Given the description of an element on the screen output the (x, y) to click on. 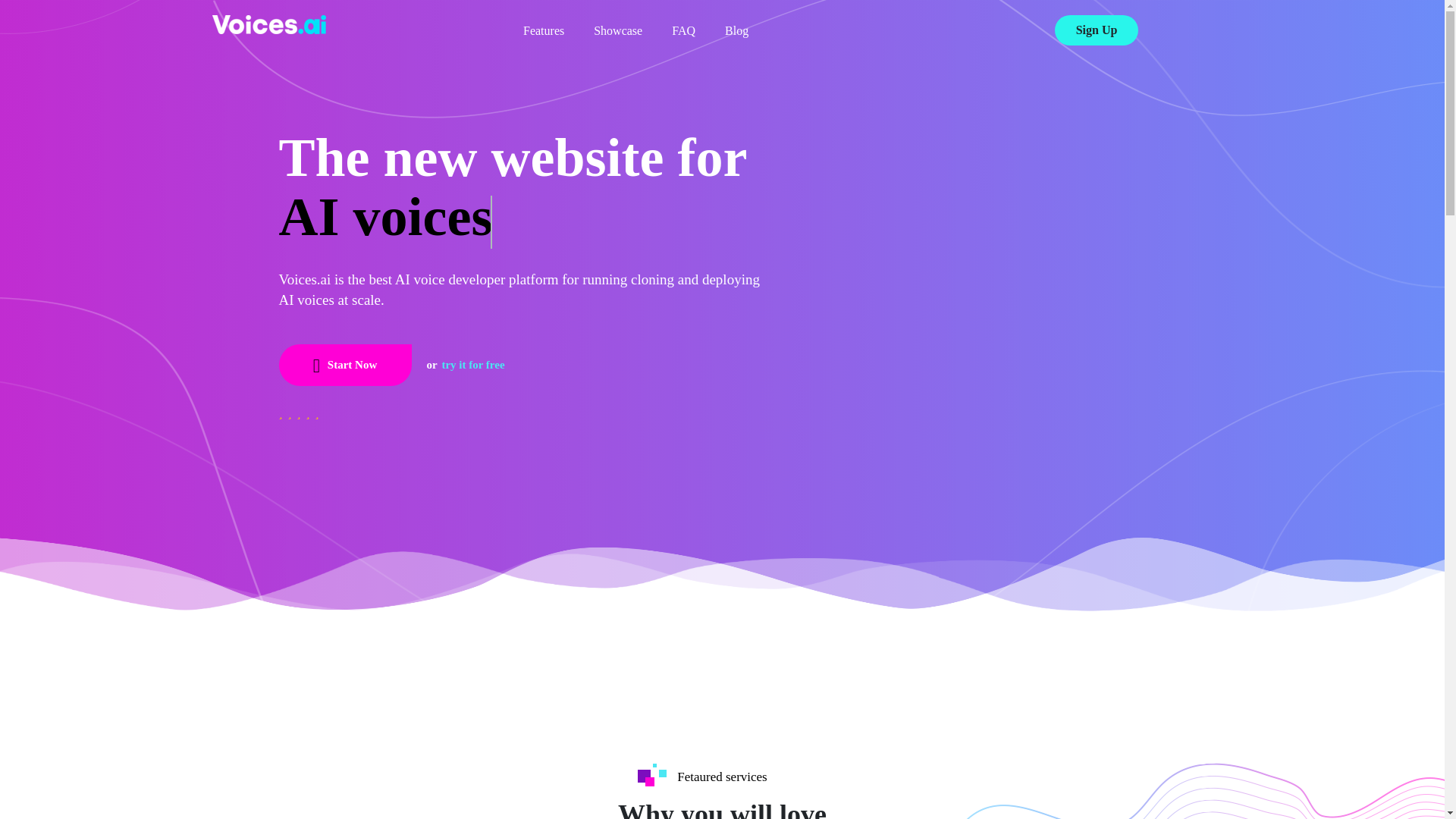
Start Now (345, 364)
Showcase (617, 30)
Sign Up (1096, 30)
Showcase (617, 30)
or try it for free (464, 365)
